Given the description of an element on the screen output the (x, y) to click on. 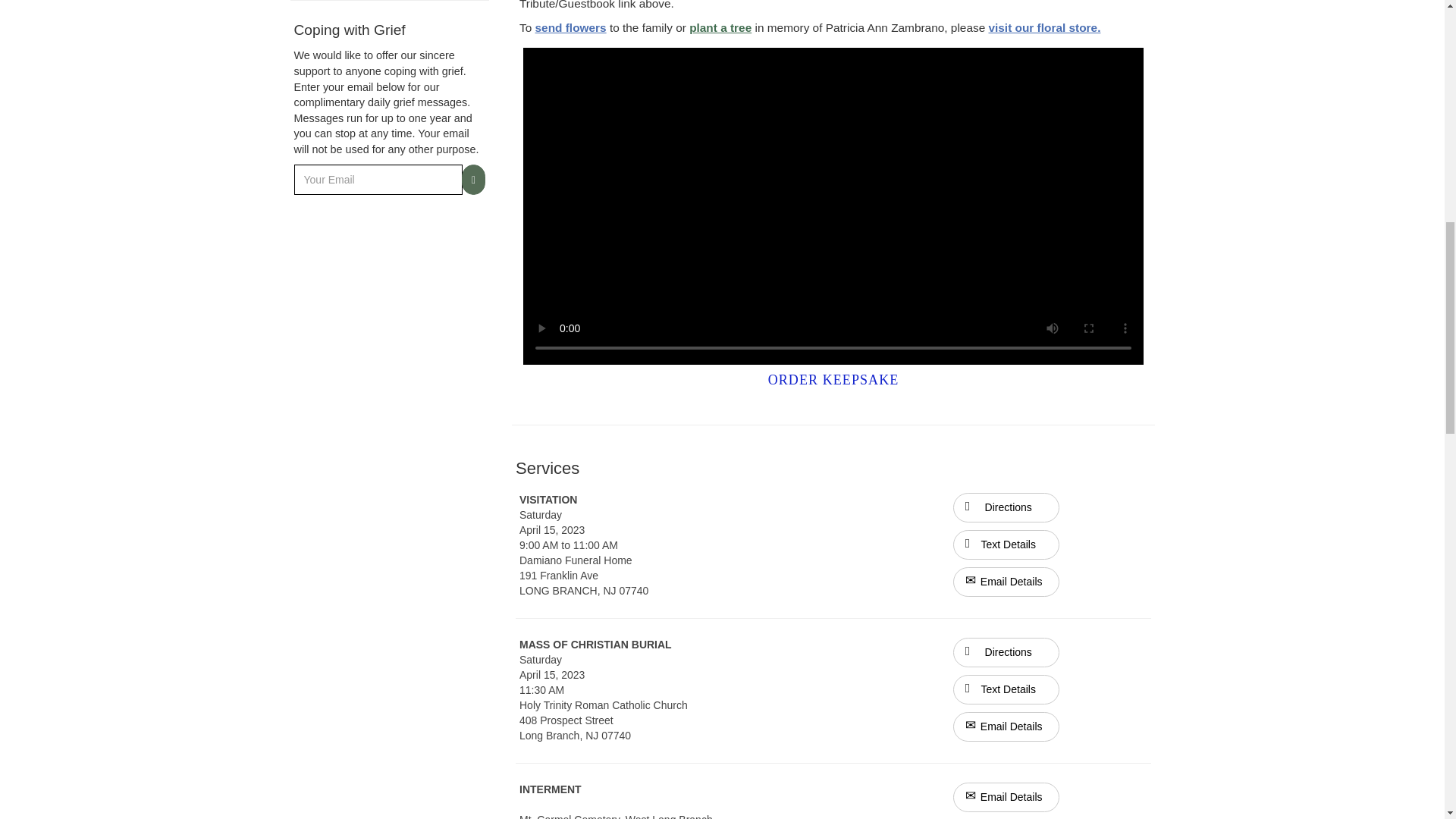
Email Details (1006, 797)
Directions (1006, 651)
send flowers (571, 27)
Email Details (1006, 726)
Directions (1006, 652)
Text Details (1006, 544)
Email Details (1006, 582)
visit our floral store. (1044, 27)
plant a tree (719, 27)
Directions (1006, 506)
Text Details (1006, 689)
Directions (1006, 507)
